Given the description of an element on the screen output the (x, y) to click on. 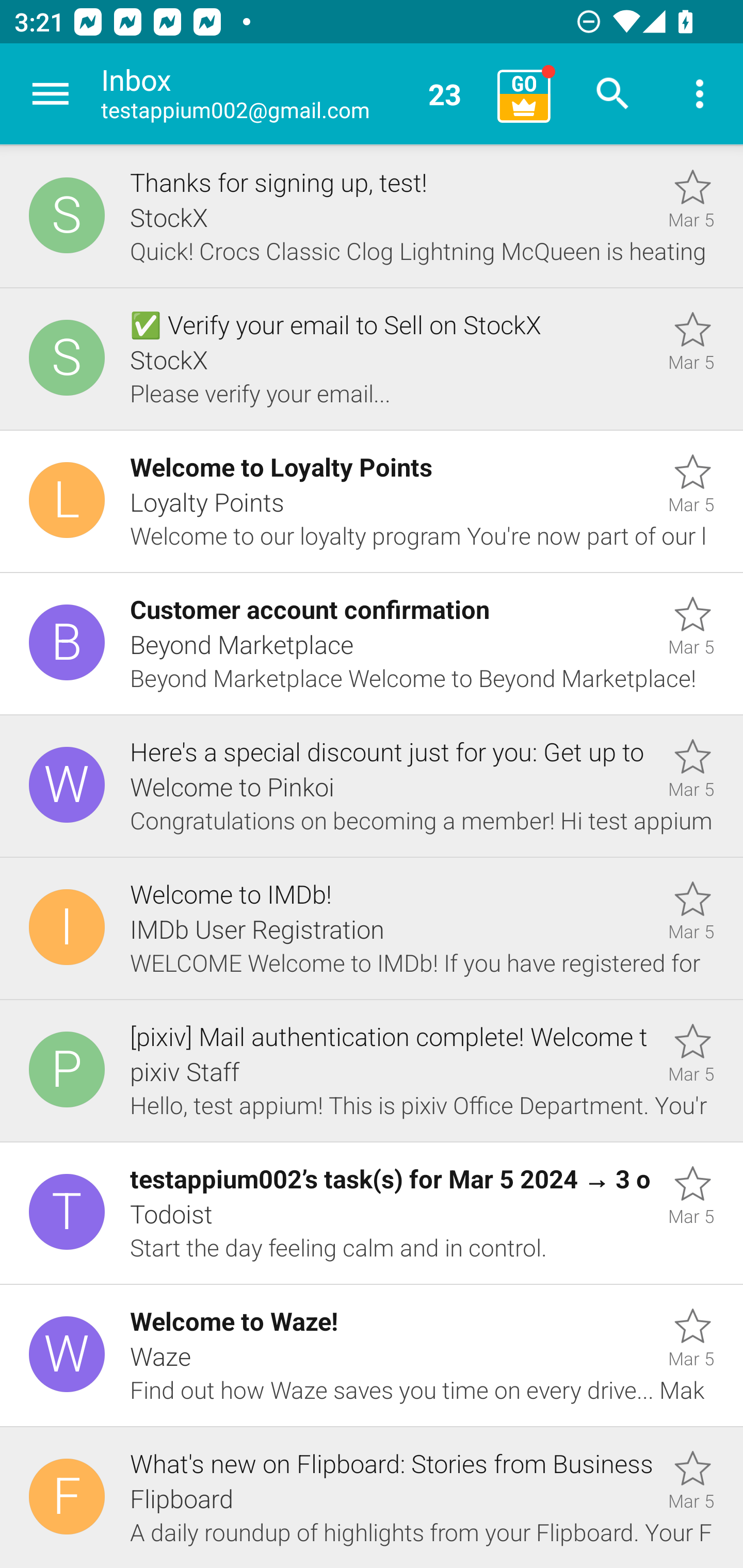
Navigate up (50, 93)
Inbox testappium002@gmail.com 23 (291, 93)
Search (612, 93)
More options (699, 93)
